Given the description of an element on the screen output the (x, y) to click on. 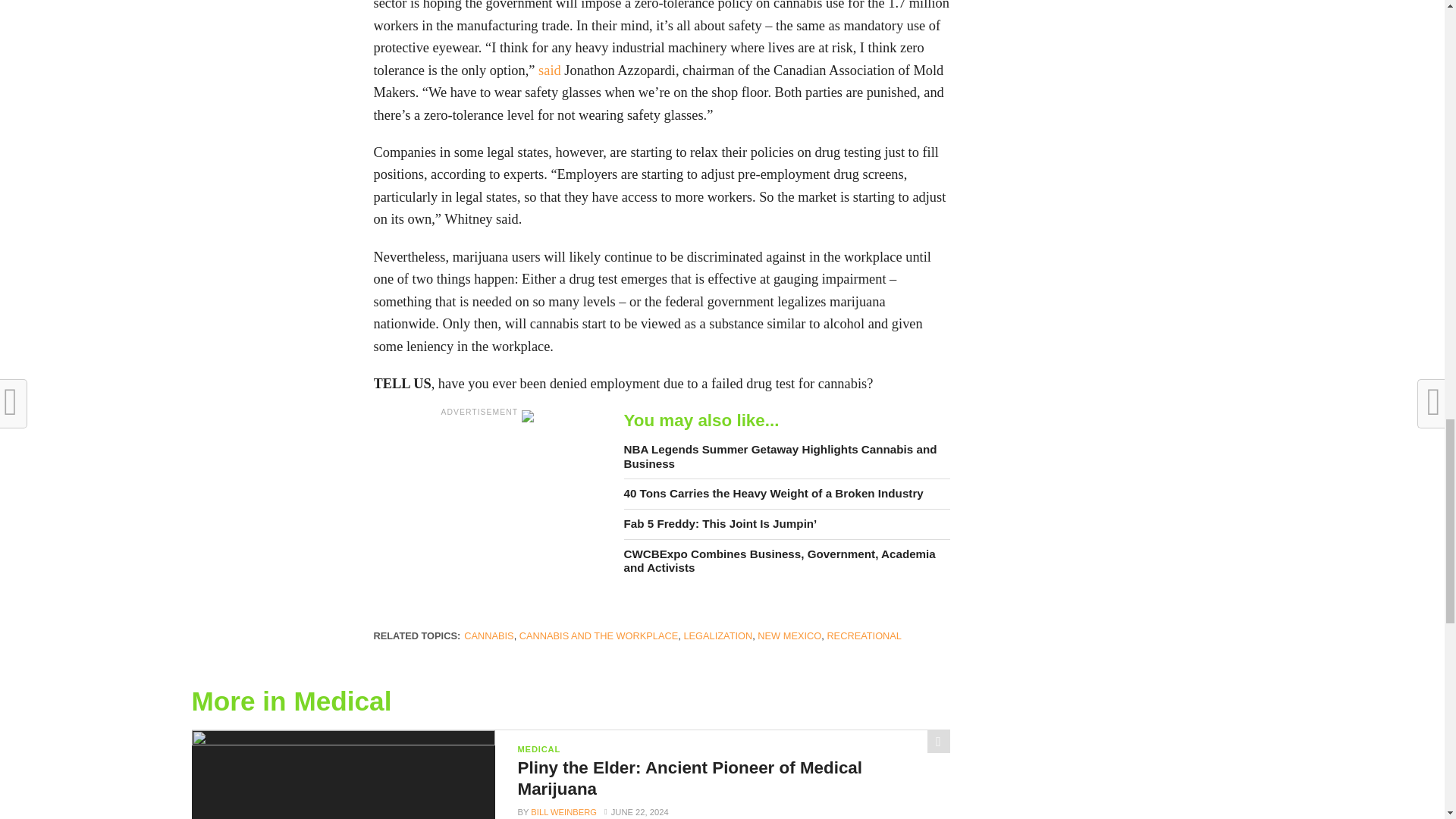
Posts by Bill Weinberg (563, 811)
